Given the description of an element on the screen output the (x, y) to click on. 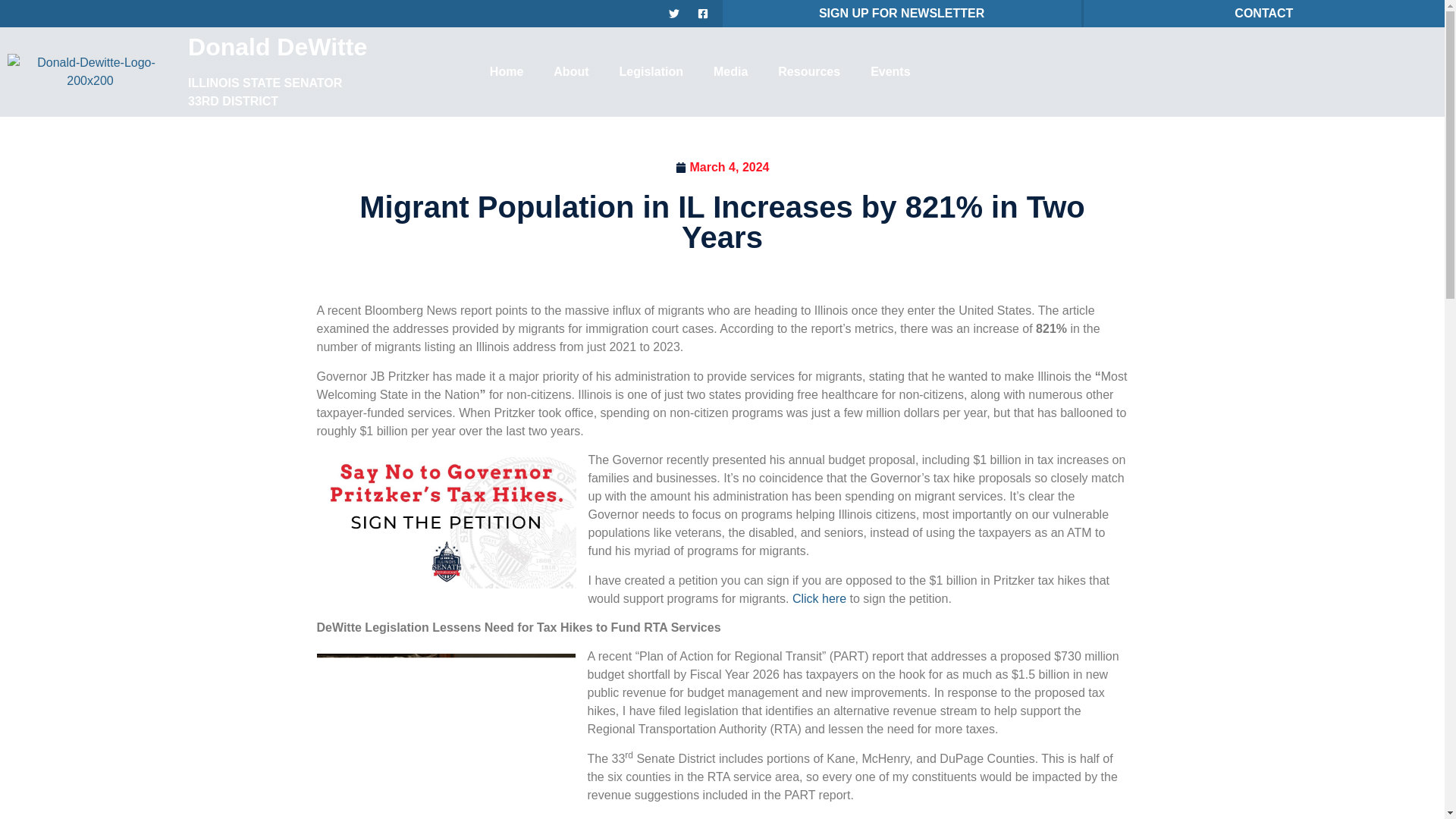
SIGN UP FOR NEWSLETTER (901, 12)
CONTACT (1263, 12)
Legislation (650, 71)
Donald DeWitte (276, 46)
About (571, 71)
Media (730, 71)
Home (506, 71)
Resources (809, 71)
Events (890, 71)
